Given the description of an element on the screen output the (x, y) to click on. 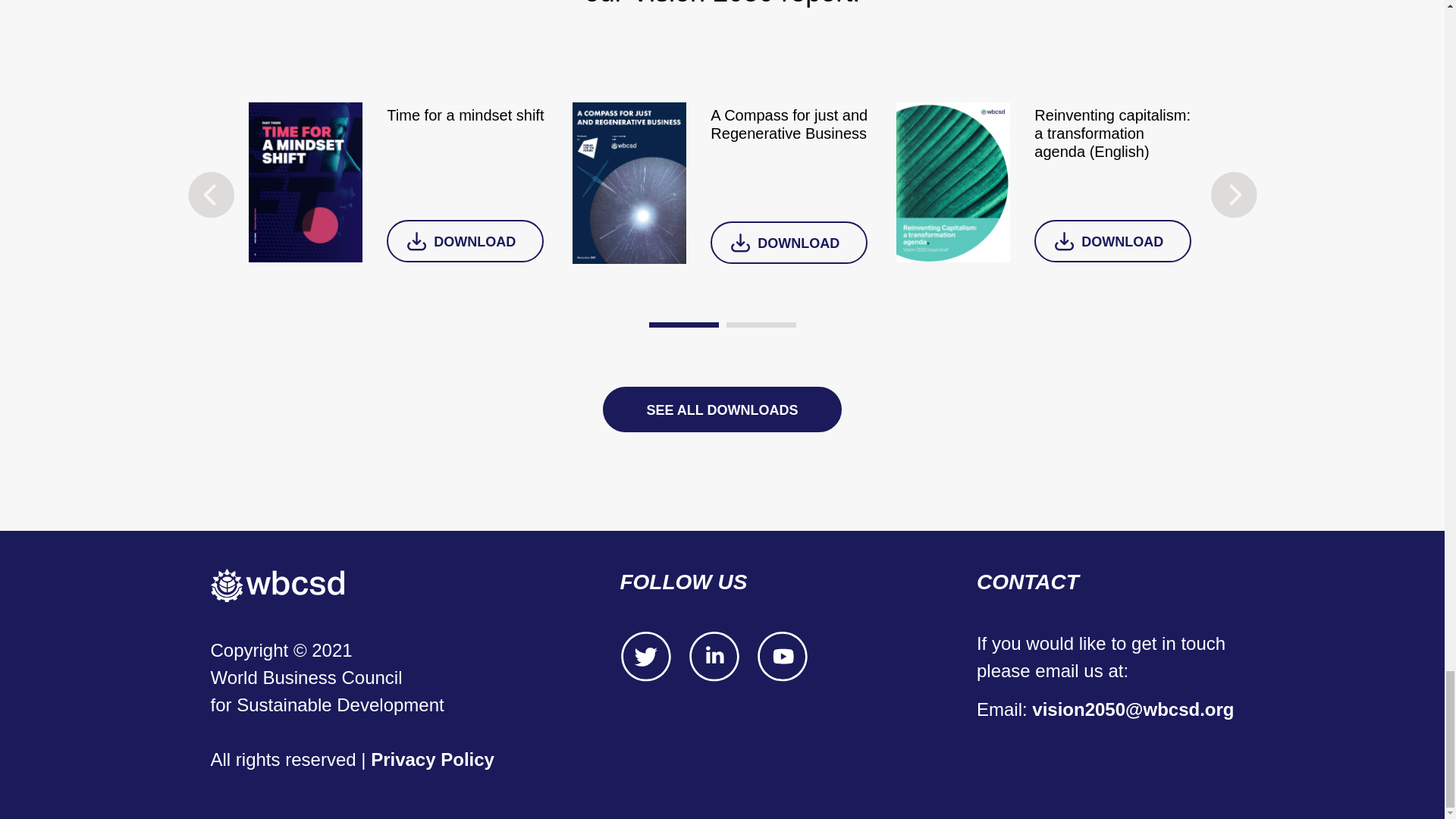
Download (788, 242)
Download (1112, 241)
Previous (210, 194)
Download (465, 241)
 SEE ALL DOWNLOADS (721, 409)
DOWNLOAD (465, 241)
DOWNLOAD (788, 242)
